Given the description of an element on the screen output the (x, y) to click on. 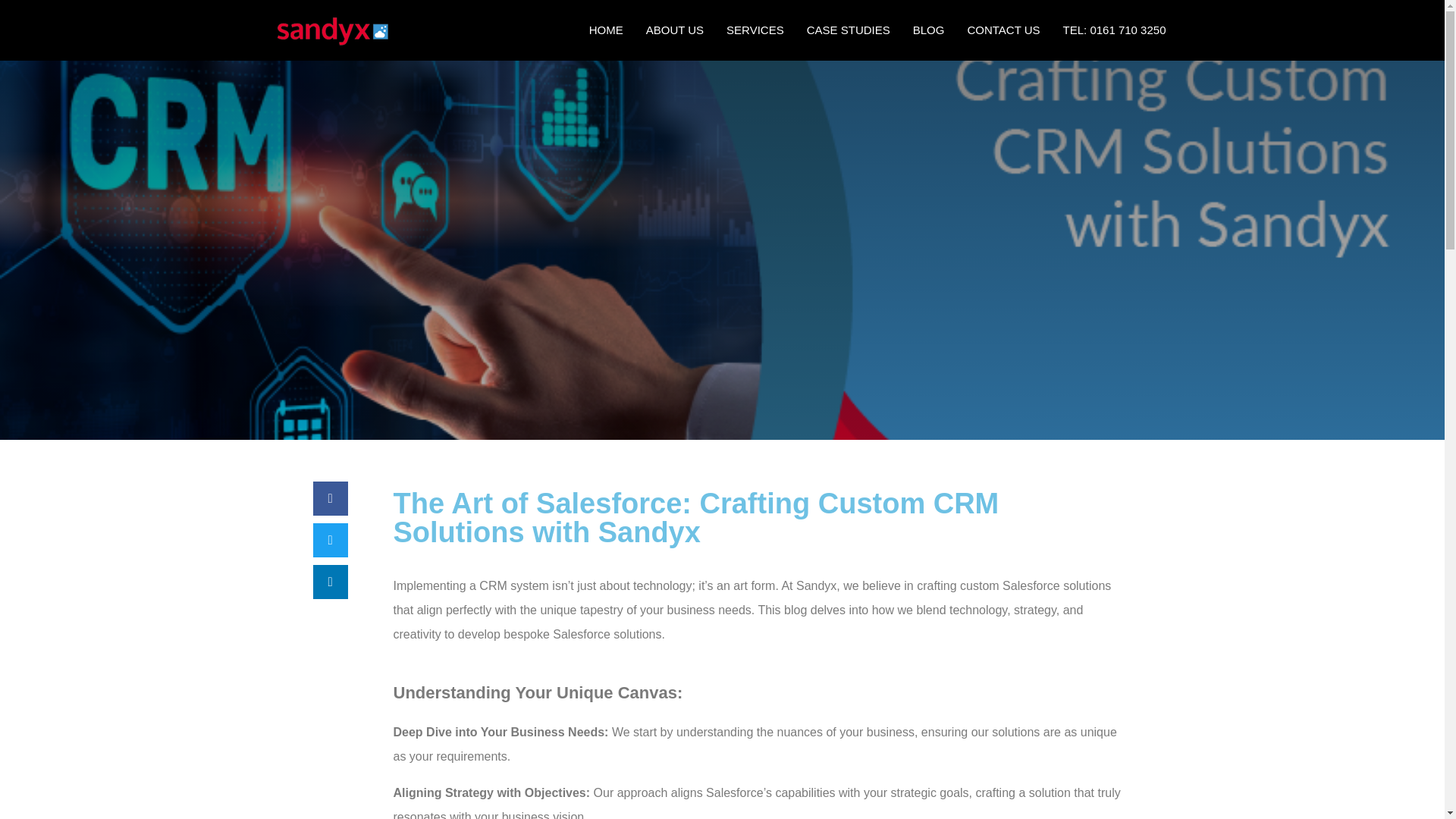
HOME (606, 30)
CONTACT US (1003, 30)
TEL: 0161 710 3250 (1114, 30)
ABOUT US (674, 30)
BLOG (928, 30)
CASE STUDIES (847, 30)
SERVICES (754, 30)
